Given the description of an element on the screen output the (x, y) to click on. 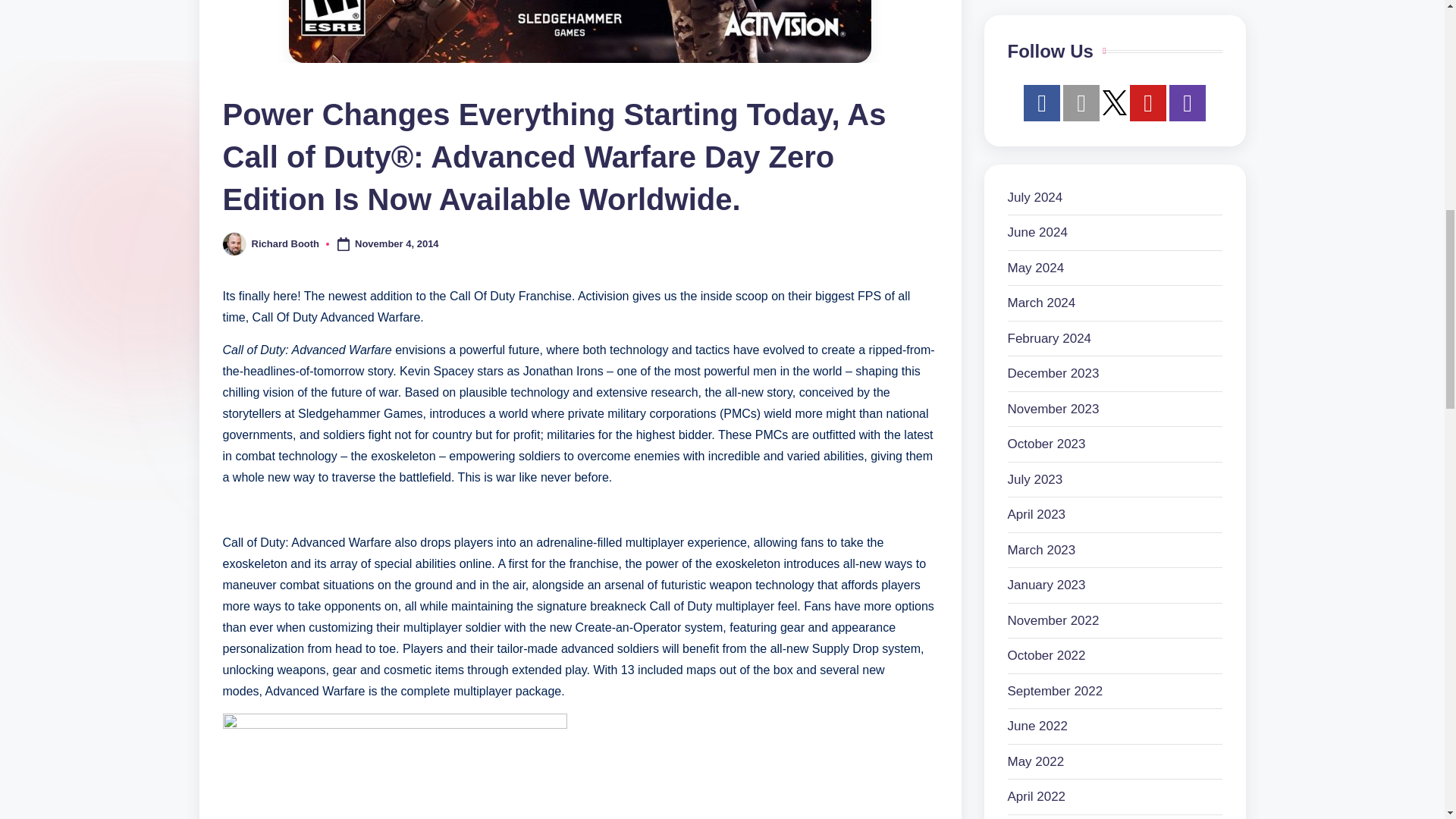
Richard Booth (285, 243)
View all posts by Richard Booth (285, 243)
